Given the description of an element on the screen output the (x, y) to click on. 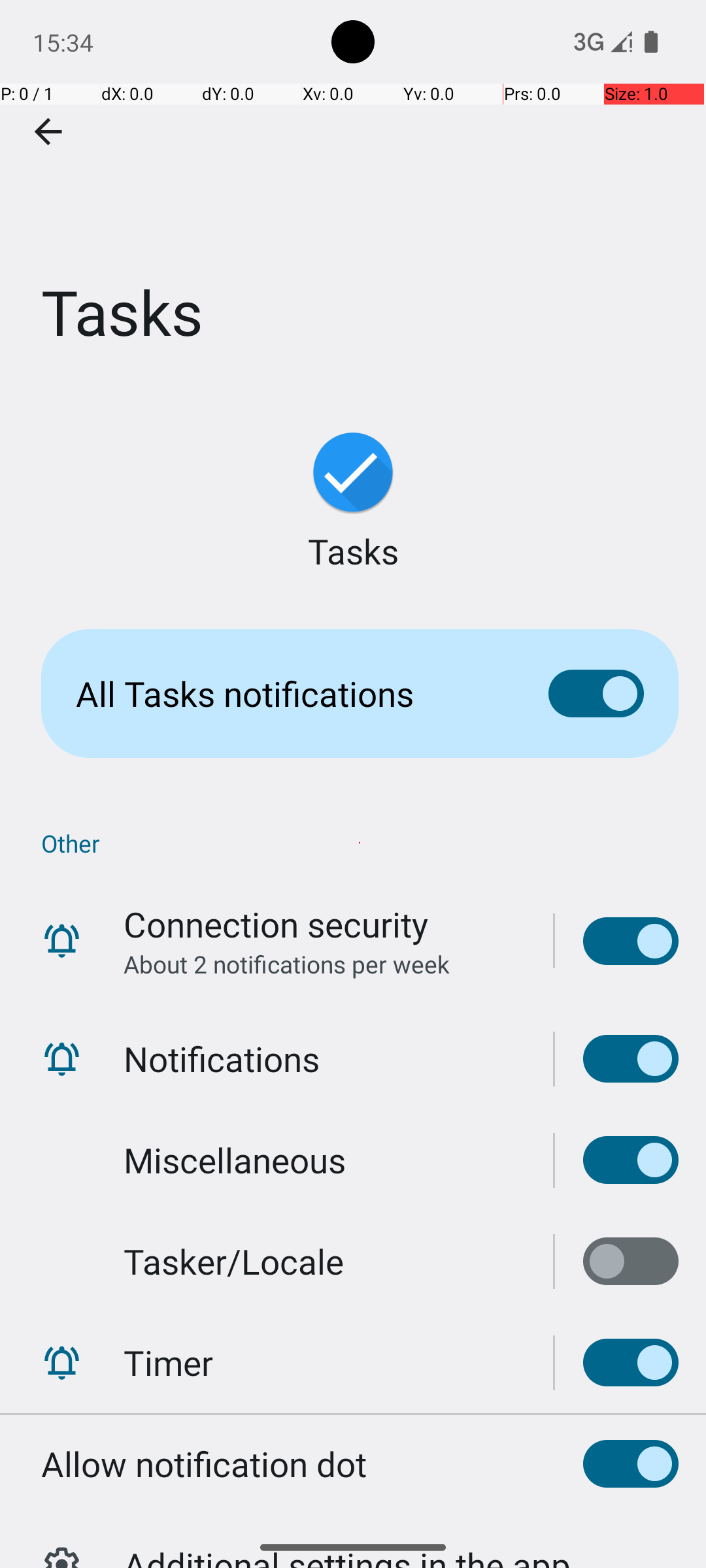
All Tasks notifications Element type: android.widget.TextView (291, 693)
Connection security Element type: android.widget.TextView (275, 923)
About 2 notifications per week Element type: android.widget.TextView (286, 963)
Miscellaneous Element type: android.widget.TextView (234, 1159)
Tasker/Locale Element type: android.widget.TextView (233, 1261)
Allow notification dot Element type: android.widget.TextView (203, 1463)
